Given the description of an element on the screen output the (x, y) to click on. 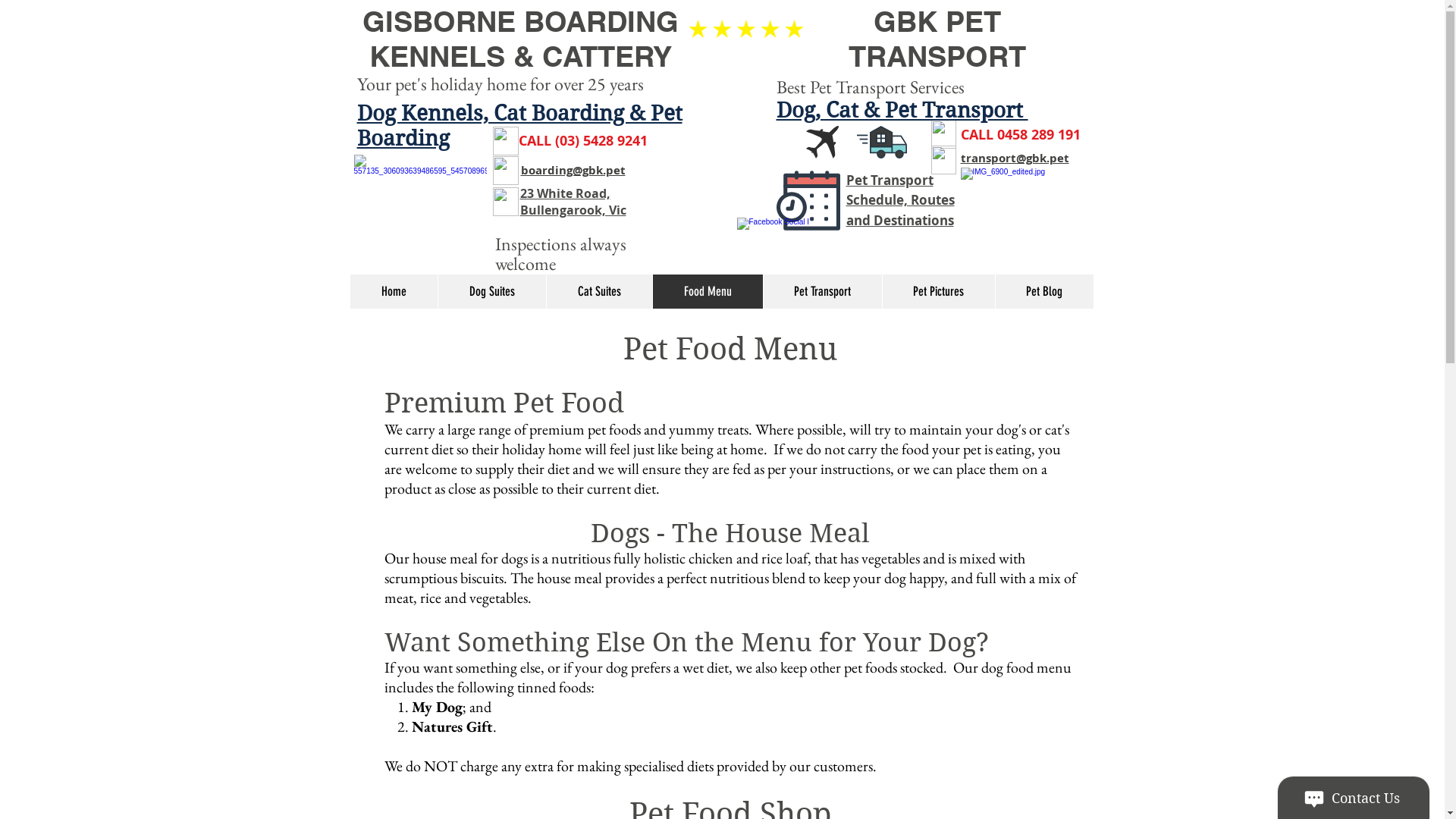
CALL (03) 5428 9241 Element type: text (582, 141)
Dog Suites Element type: text (490, 291)
GISBORNE BOARDING KENNELS & CATTERY Element type: text (520, 38)
23 White Road, Bullengarook, Vic Element type: text (573, 201)
Home Element type: text (393, 291)
Cat Suites Element type: text (599, 291)
Food Menu Element type: text (707, 291)
Dog, Cat & Pet Transport  Element type: text (902, 109)
Pet Pictures Element type: text (937, 291)
Pet Transport Schedule, Routes and Destinations Element type: text (900, 200)
CALL 0458 289 191 Element type: text (1019, 134)
Pet Transport Van Element type: hover (1026, 201)
GBK PET TRANSPORT Element type: text (937, 39)
boarding@gbk.pet Element type: text (572, 169)
Pet Transport Element type: text (821, 291)
Dog Kennels, Cat Boarding & Pet Boarding Element type: text (518, 125)
transport@gbk.pet Element type: text (1014, 157)
Pet Blog Element type: text (1043, 291)
